Given the description of an element on the screen output the (x, y) to click on. 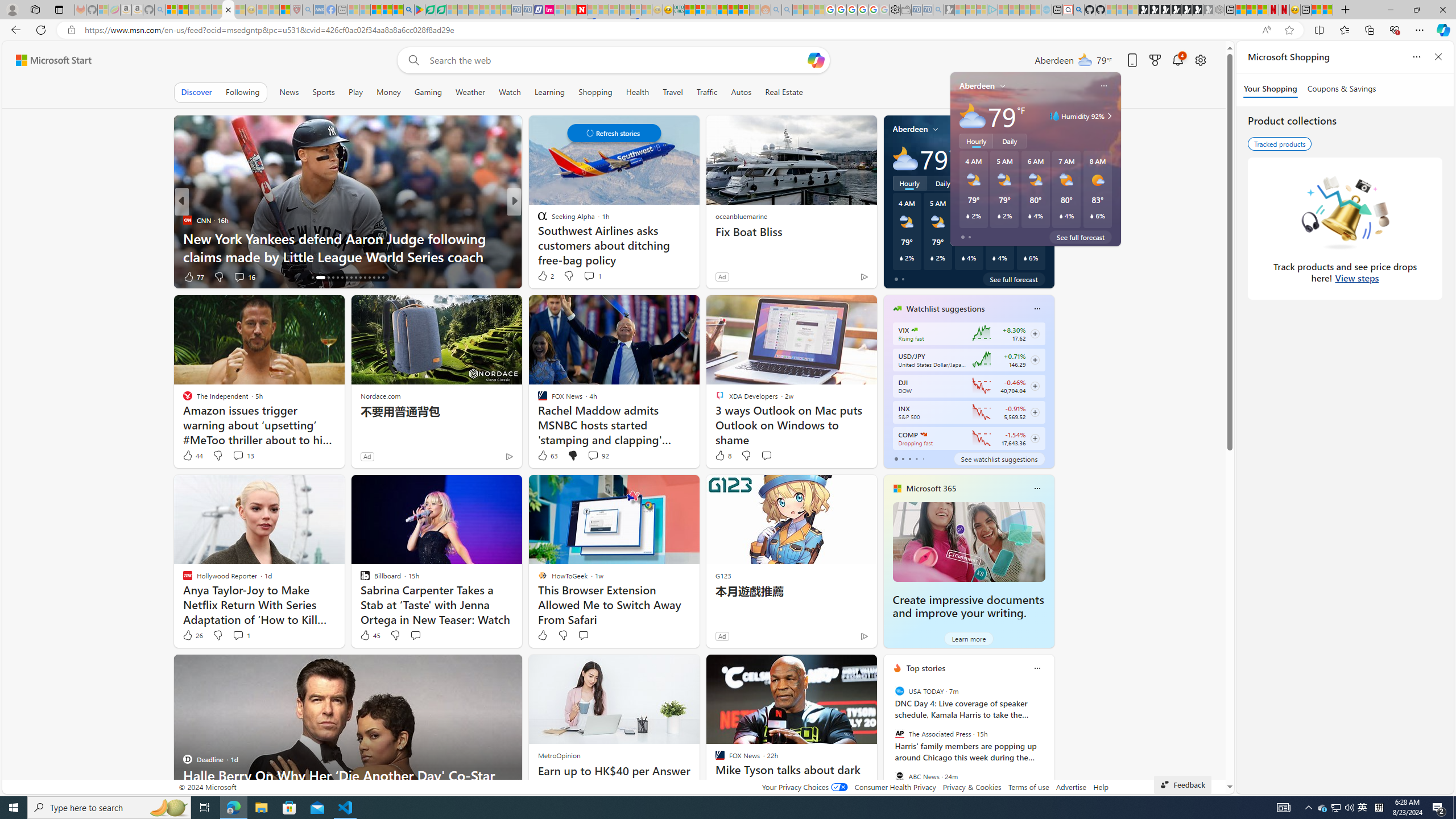
View comments 9 Comment (589, 276)
AutomationID: tab-24 (355, 277)
Terms of Use Agreement (430, 9)
Wildlife - MSN (1316, 9)
tab-0 (895, 458)
310 Like (545, 276)
AutomationID: tab-27 (368, 277)
